Given the description of an element on the screen output the (x, y) to click on. 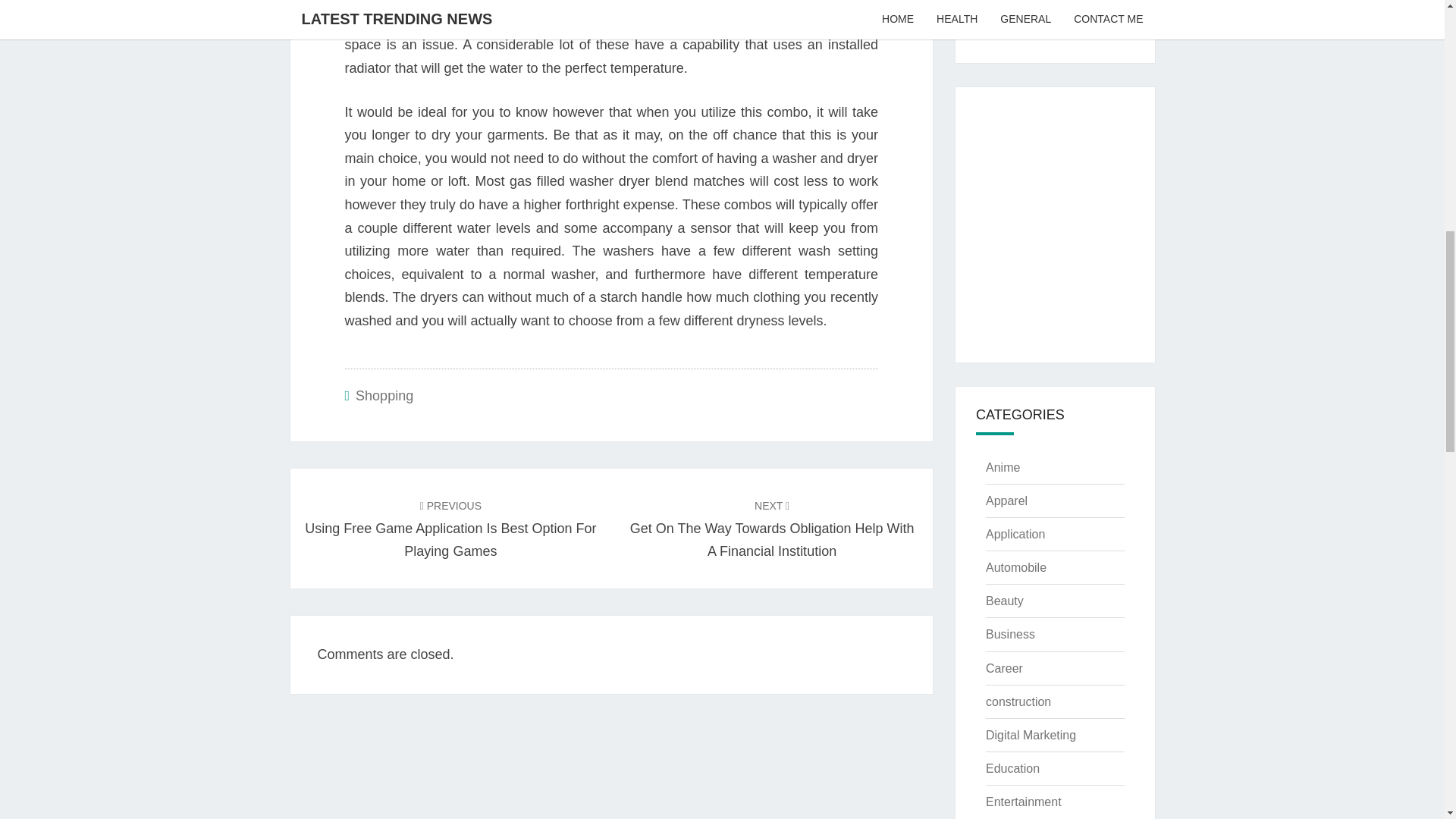
Shopping (384, 395)
Digital Marketing (1030, 735)
Application (1015, 533)
Anime (1002, 467)
Automobile (1015, 567)
Entertainment (1023, 801)
Beauty (1004, 600)
Apparel (1006, 500)
construction (1018, 701)
Education (1012, 768)
Career (1004, 667)
Business (1010, 634)
